Given the description of an element on the screen output the (x, y) to click on. 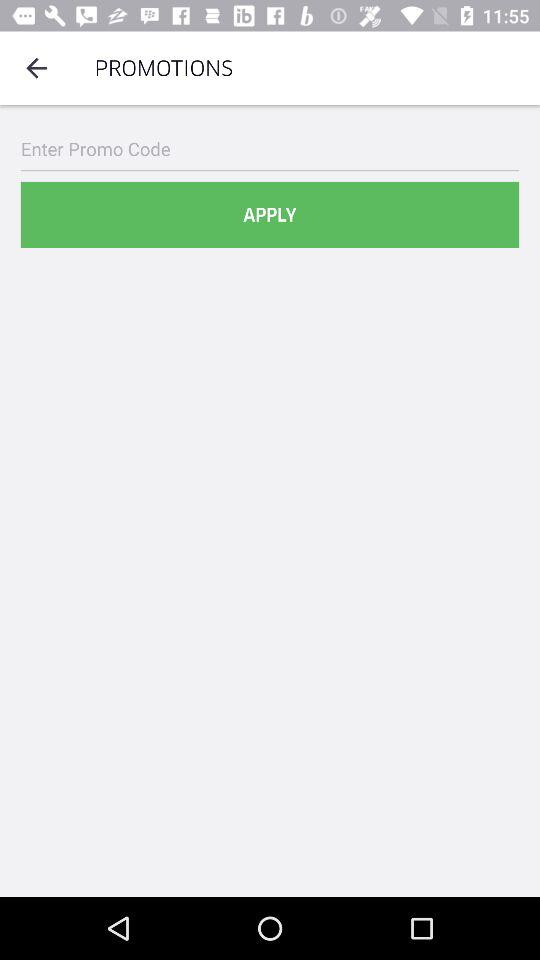
press item above apply item (270, 148)
